Given the description of an element on the screen output the (x, y) to click on. 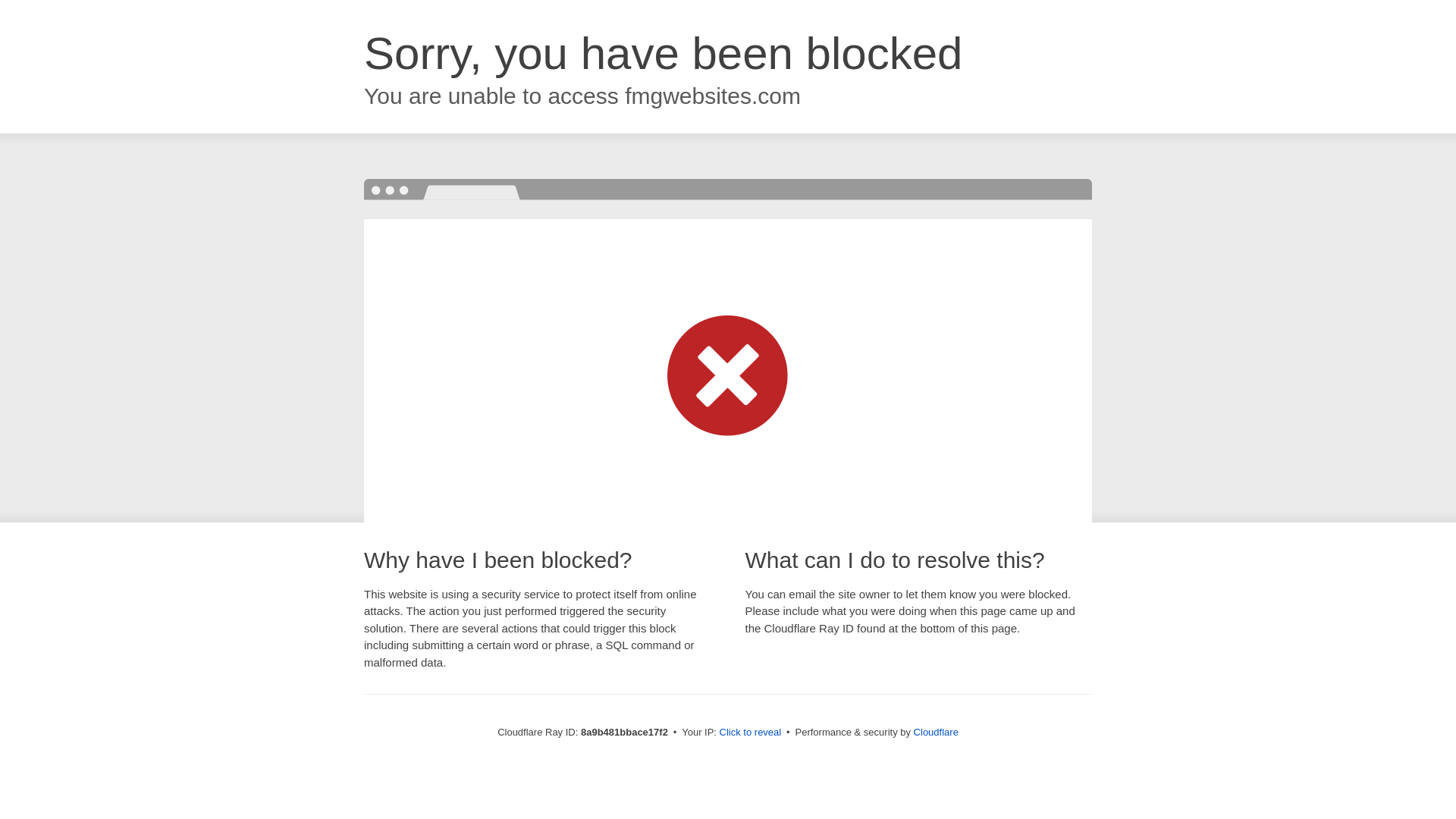
Click to reveal (750, 732)
Cloudflare (936, 731)
